Given the description of an element on the screen output the (x, y) to click on. 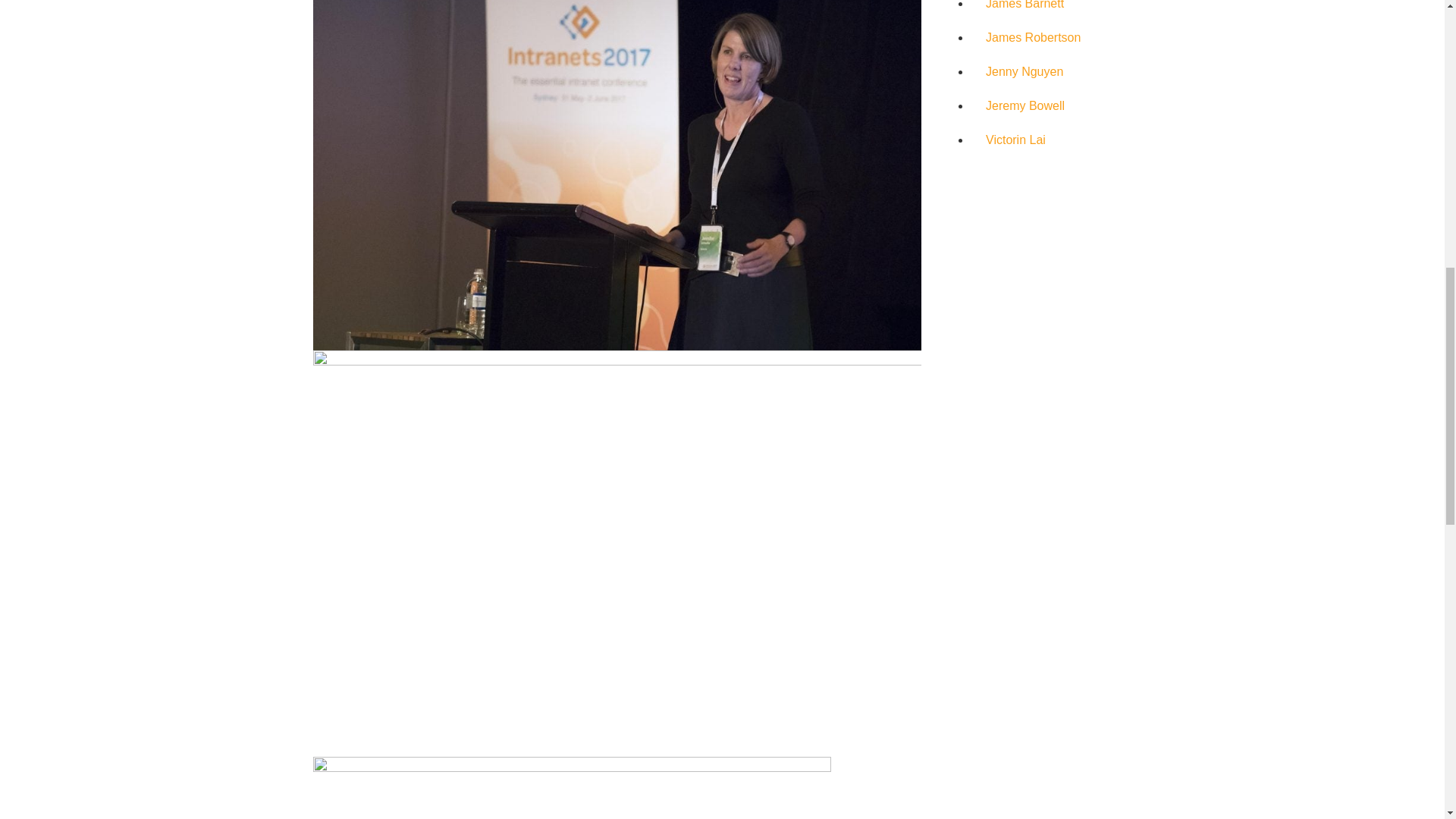
Jeremy Bowell (1024, 105)
James Robertson (1032, 37)
James Barnett (1024, 4)
Victorin Lai (1015, 139)
Jenny Nguyen (1023, 71)
